Given the description of an element on the screen output the (x, y) to click on. 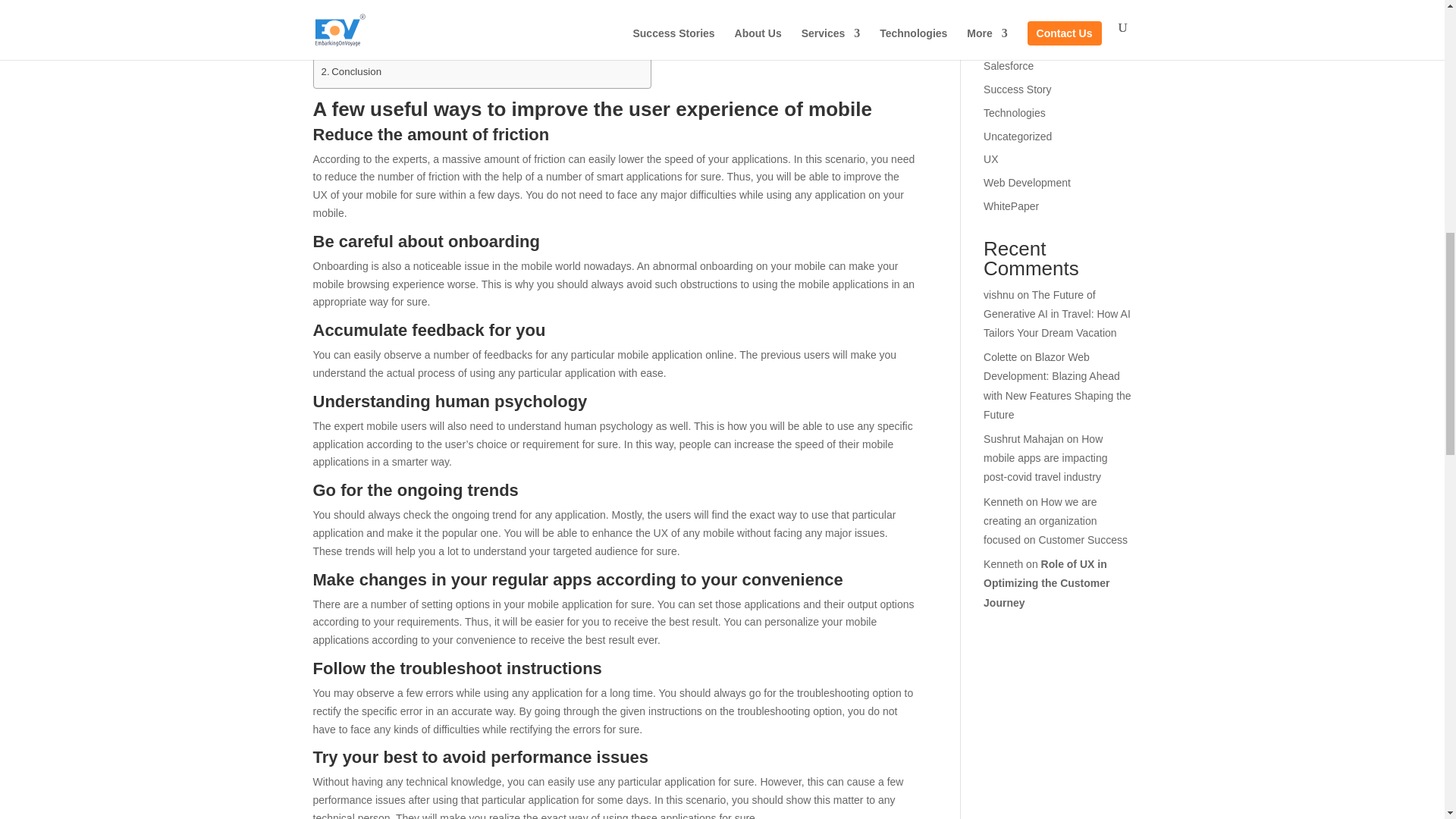
Try your best to avoid performance issues (443, 25)
Follow the troubleshoot instructions (430, 11)
Follow the troubleshoot instructions (430, 11)
Try your best to avoid performance issues (443, 25)
Find your own way to experience better mobile using (464, 40)
Do not avoid any important notifications (441, 54)
Conclusion (351, 71)
Find your own way to experience better mobile using (464, 40)
